Given the description of an element on the screen output the (x, y) to click on. 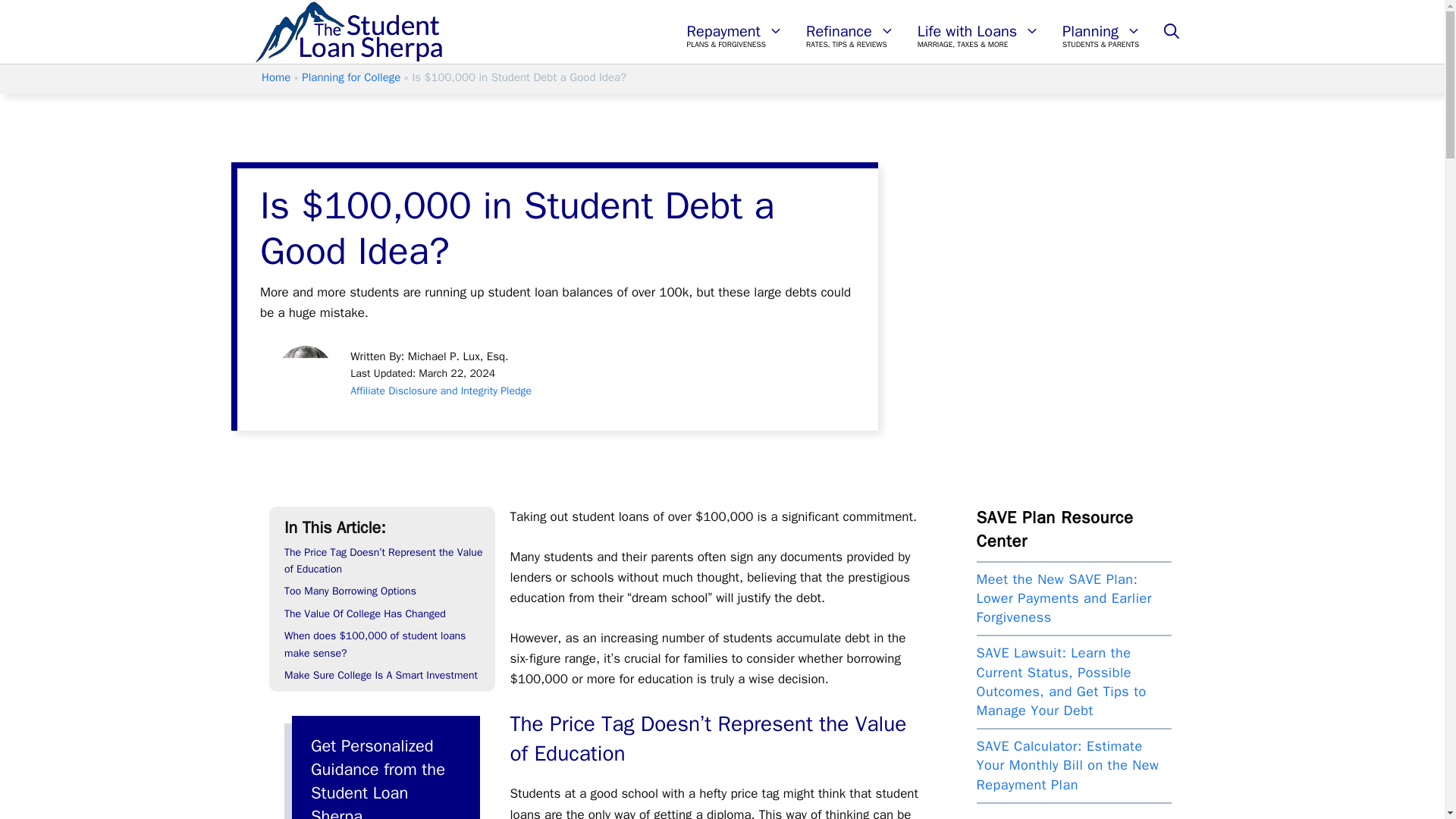
Planning for College (350, 77)
Affiliate Disclosure and Integrity Pledge (440, 390)
Make Sure College Is A Smart Investment (380, 675)
Home (275, 77)
Too Many Borrowing Options (349, 590)
The Value Of College Has Changed (364, 613)
